Given the description of an element on the screen output the (x, y) to click on. 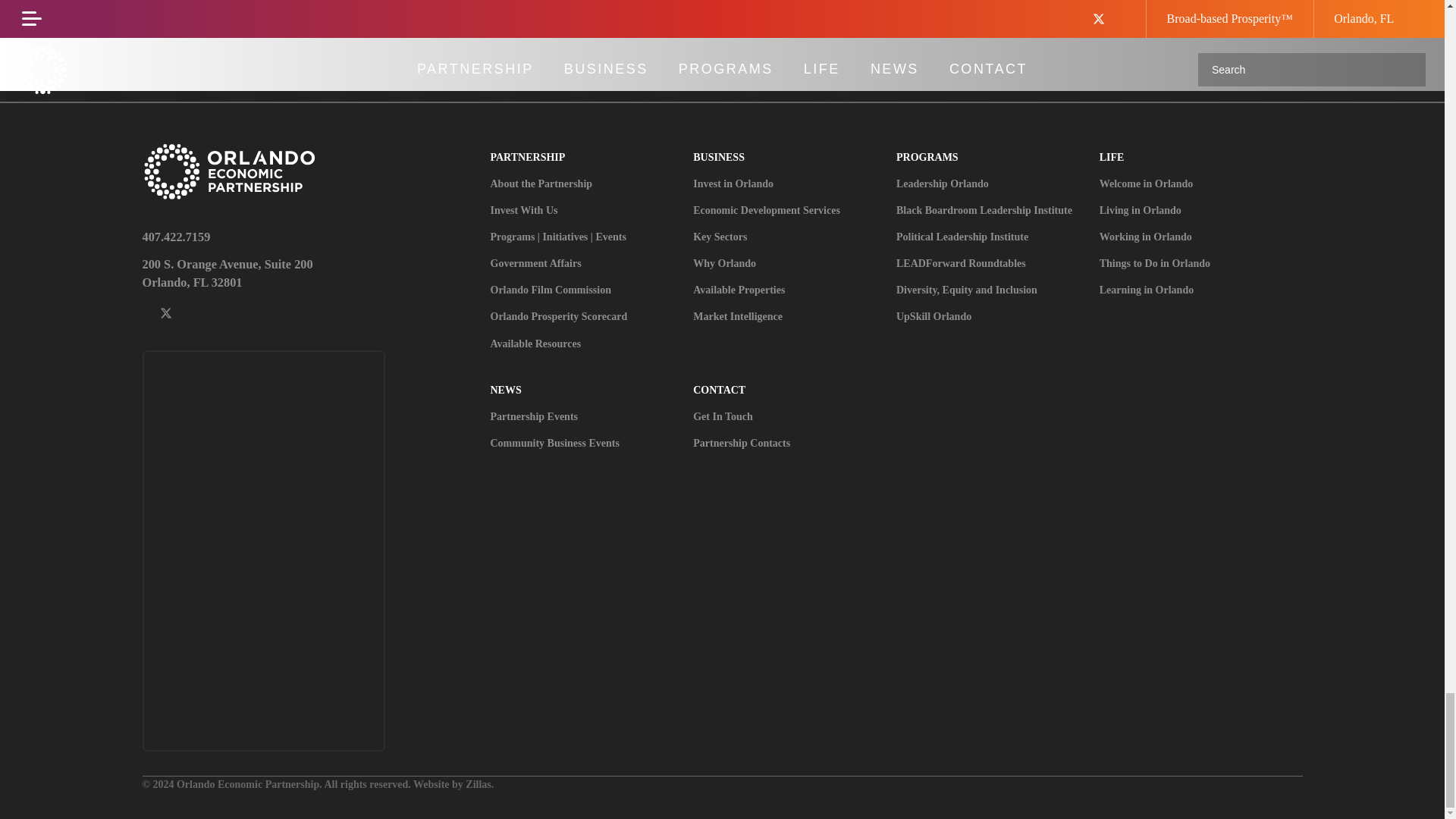
See in Google Maps (316, 271)
